Given the description of an element on the screen output the (x, y) to click on. 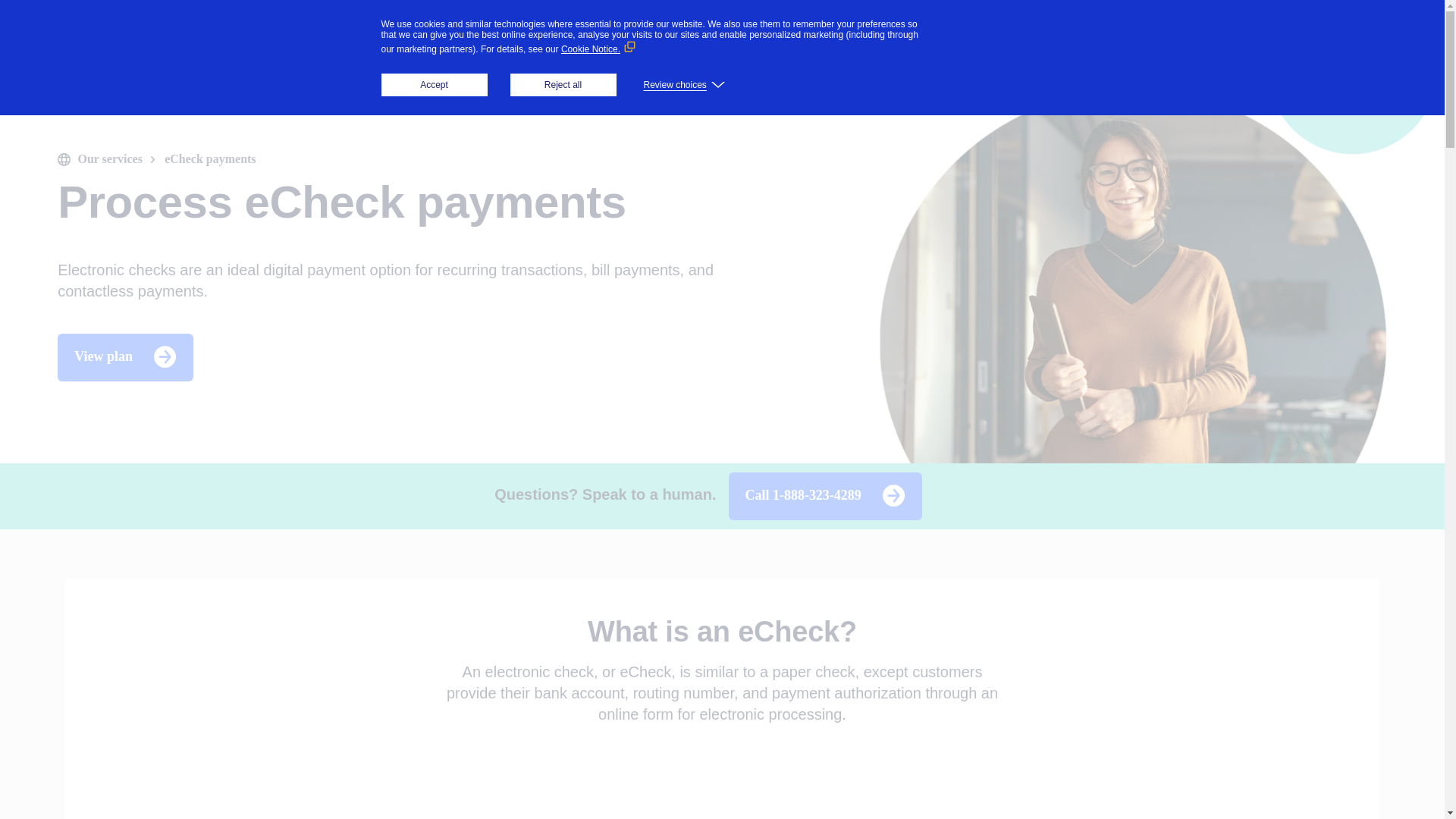
Developers (610, 31)
Call 1-888-323-4289 (824, 494)
Sign up now (1373, 31)
Support (515, 31)
Support (515, 31)
Pricing (701, 31)
Play (722, 787)
Resources (415, 31)
Our services (109, 159)
View plan (140, 355)
